Given the description of an element on the screen output the (x, y) to click on. 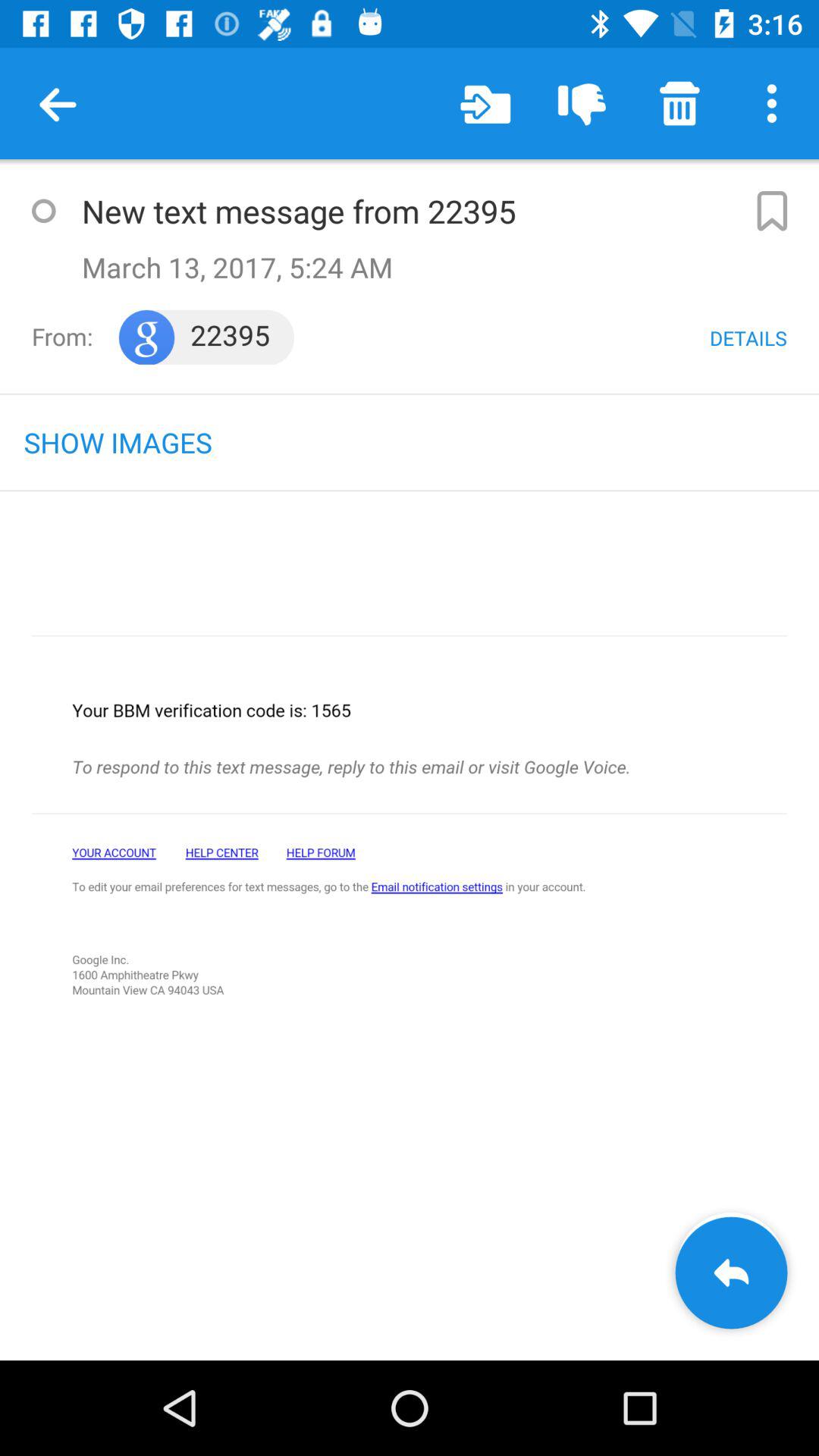
select button (43, 210)
